Given the description of an element on the screen output the (x, y) to click on. 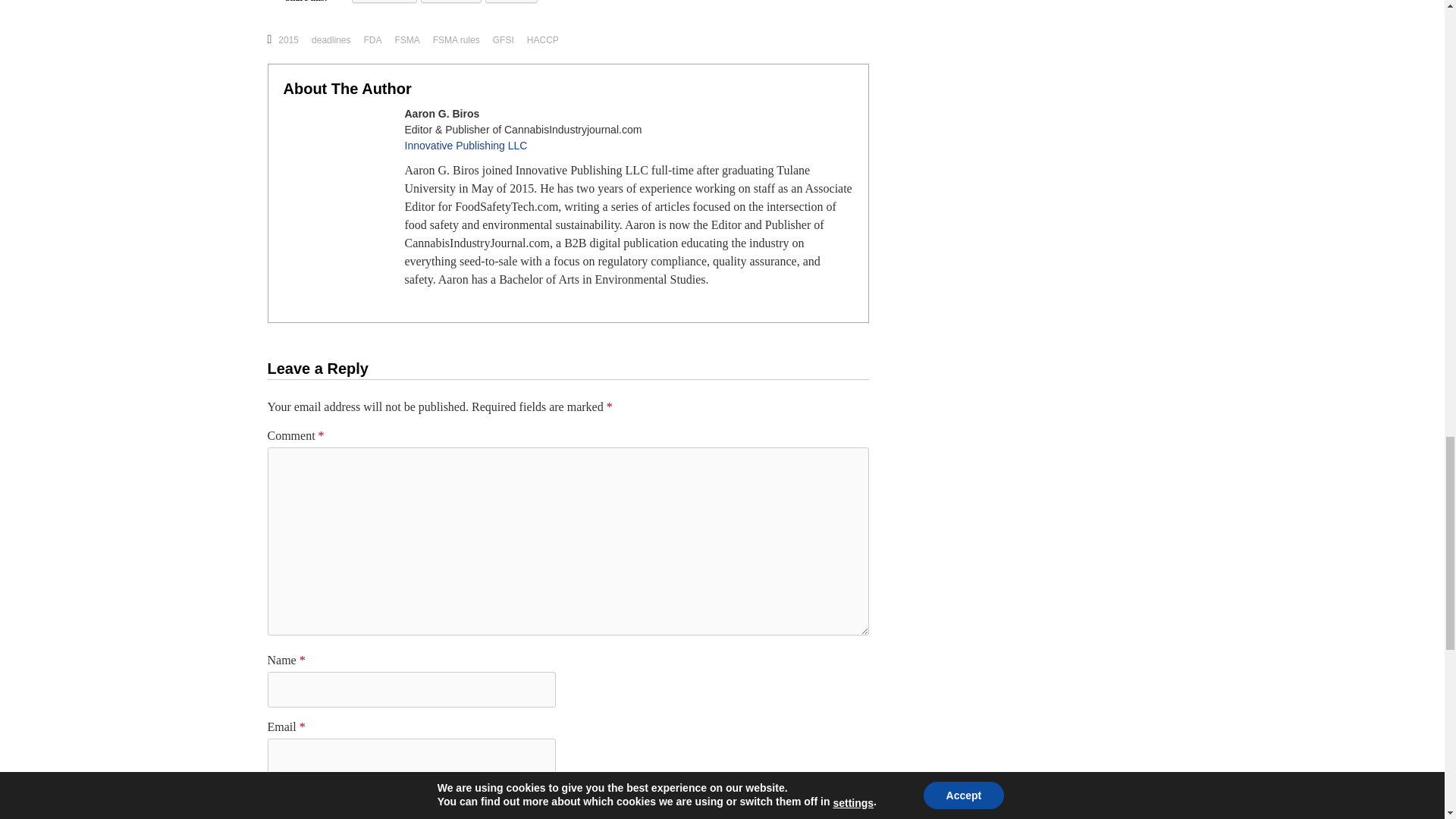
Click to share on Facebook (384, 1)
Click to share on LinkedIn (450, 1)
